Given the description of an element on the screen output the (x, y) to click on. 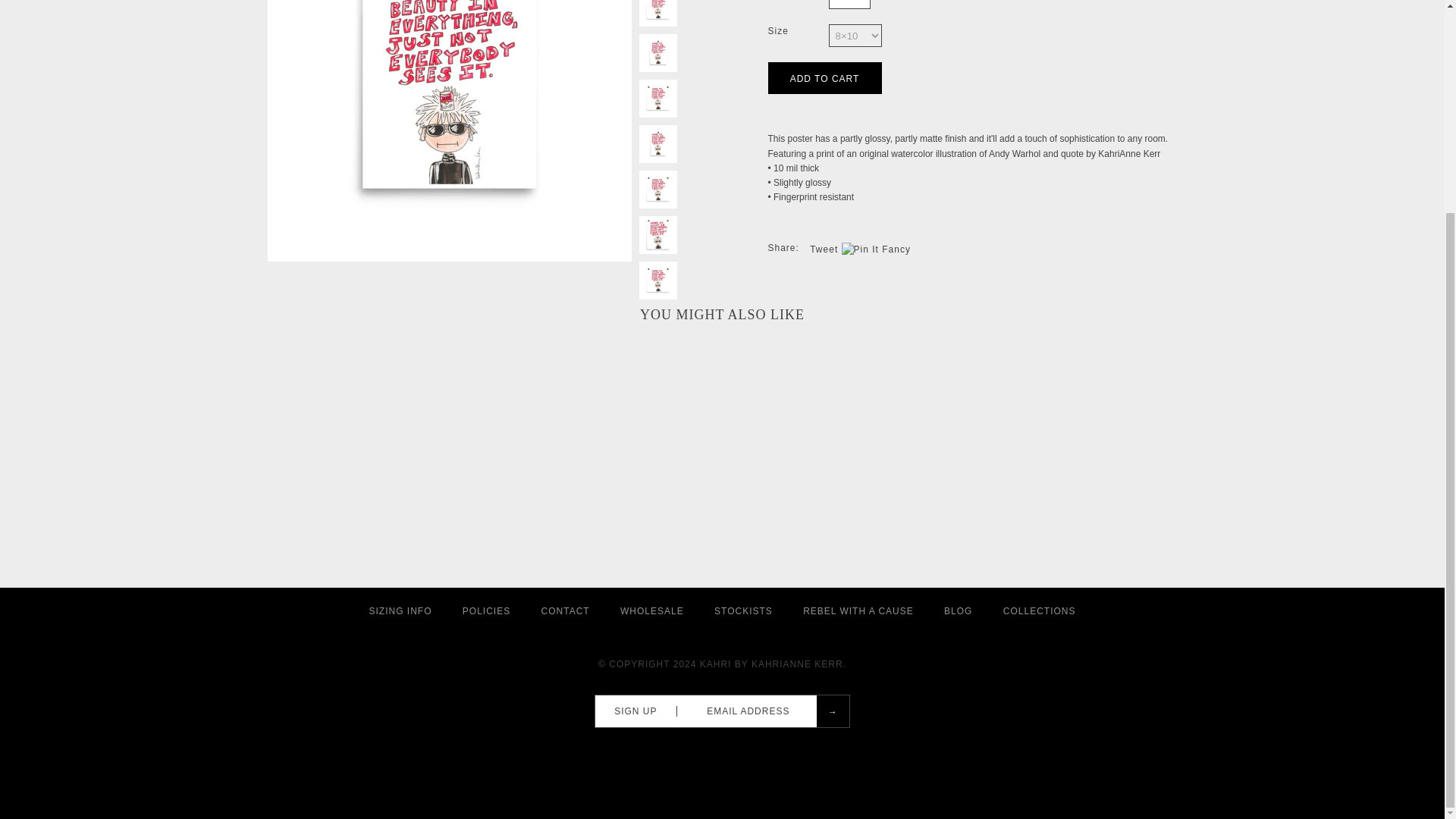
Pin It (860, 249)
Little Andy Quote Art Print (658, 234)
Little Andy Quote Art Print (658, 53)
Little Andy Quote Art Print (658, 13)
1 (848, 4)
Little Andy Quote Art Print (658, 143)
Add to Cart (823, 78)
Little Andy Quote Art Print (658, 98)
Little Andy Quote Art Print (658, 189)
Little Andy Quote Art Print (658, 280)
